Given the description of an element on the screen output the (x, y) to click on. 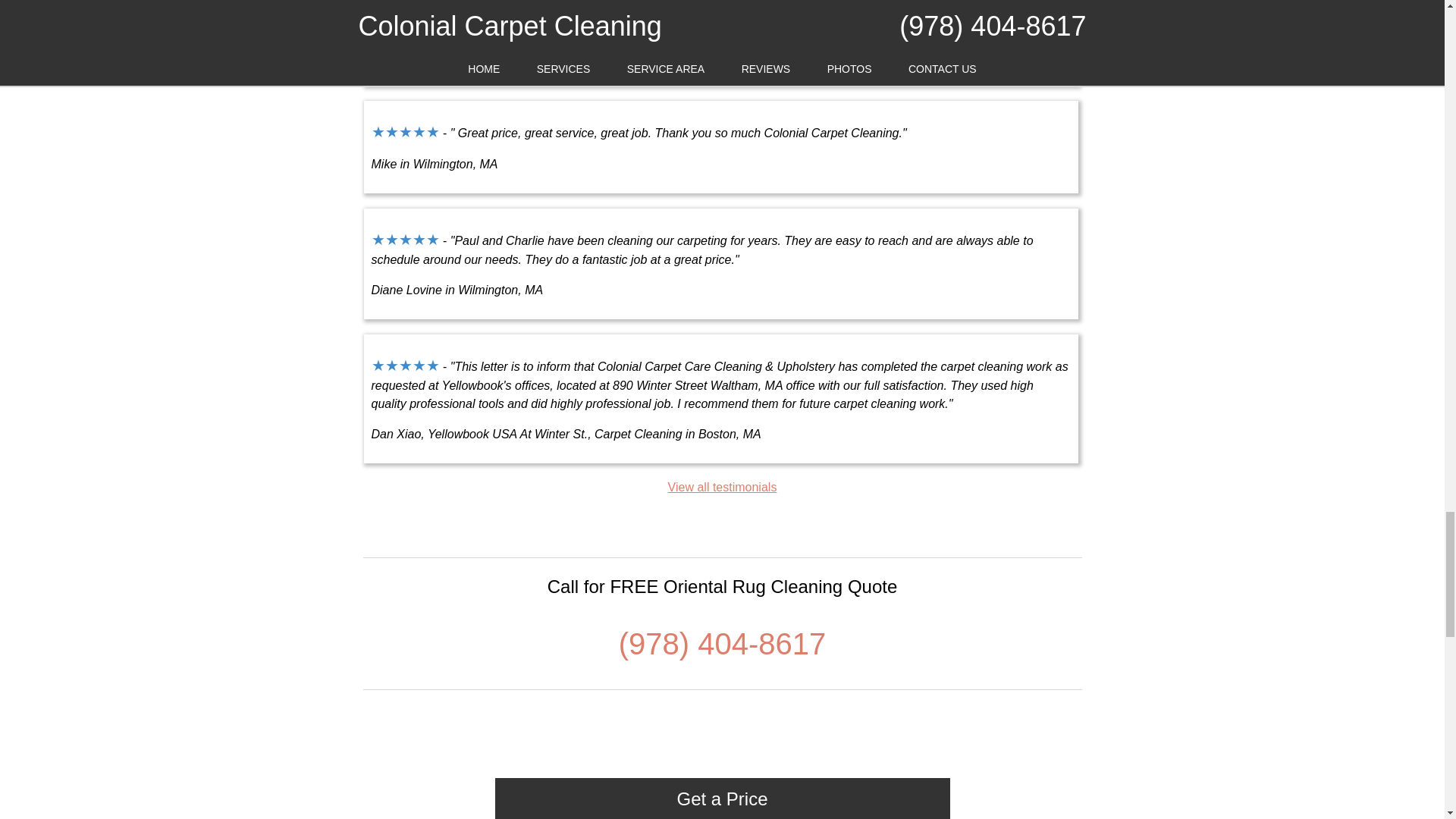
View all testimonials (722, 486)
